Given the description of an element on the screen output the (x, y) to click on. 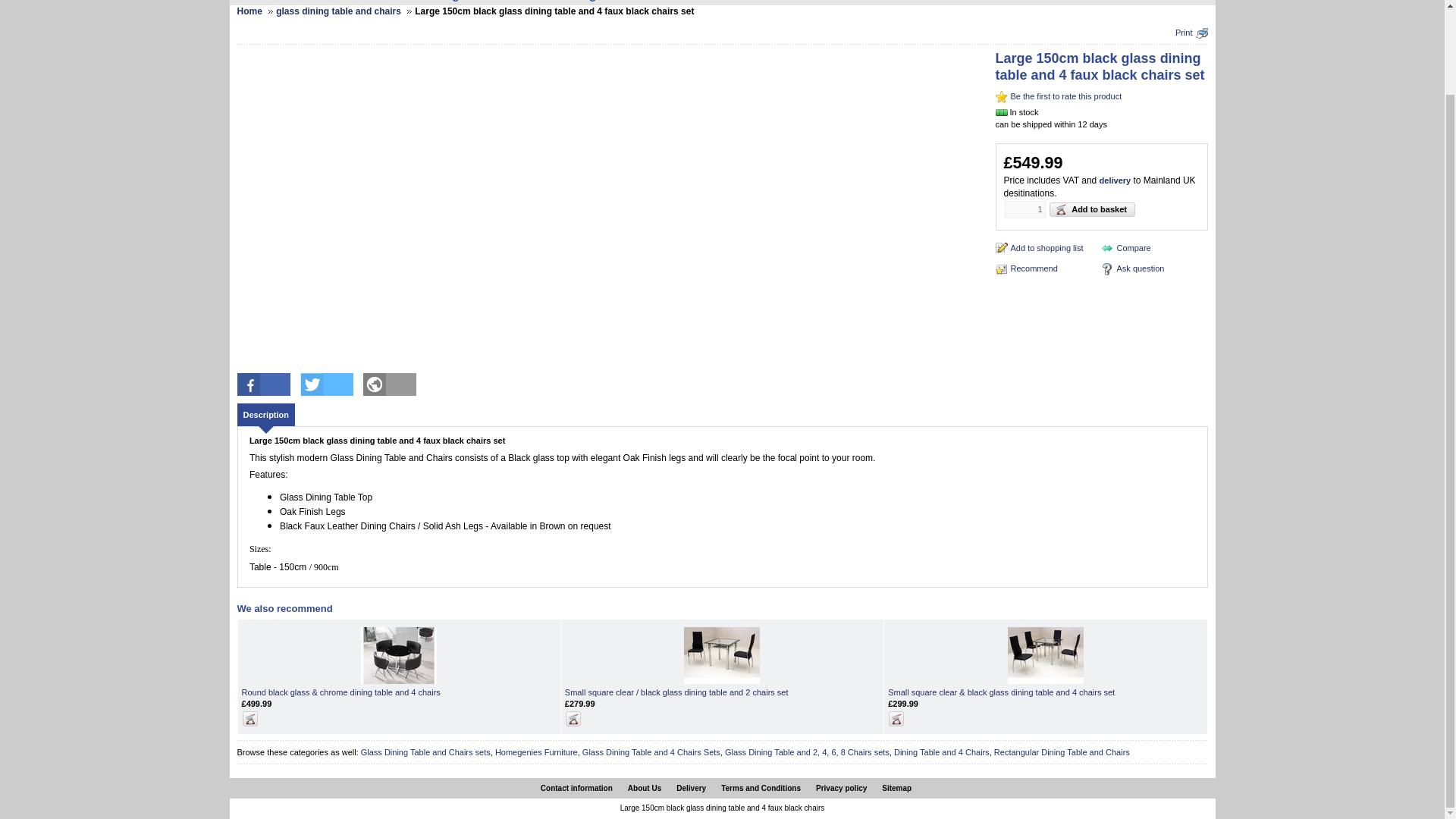
Go to product (676, 691)
Glass Dining Table and 4 Chairs Sets (651, 751)
Garden Furniture (978, 2)
Living Room Furniture (627, 2)
Go to product (340, 691)
Dining Room Furniture (488, 2)
Compare (1125, 247)
Rectangular Dining Table and Chairs (1061, 751)
About Us (647, 788)
Add to shopping list (1038, 247)
